Given the description of an element on the screen output the (x, y) to click on. 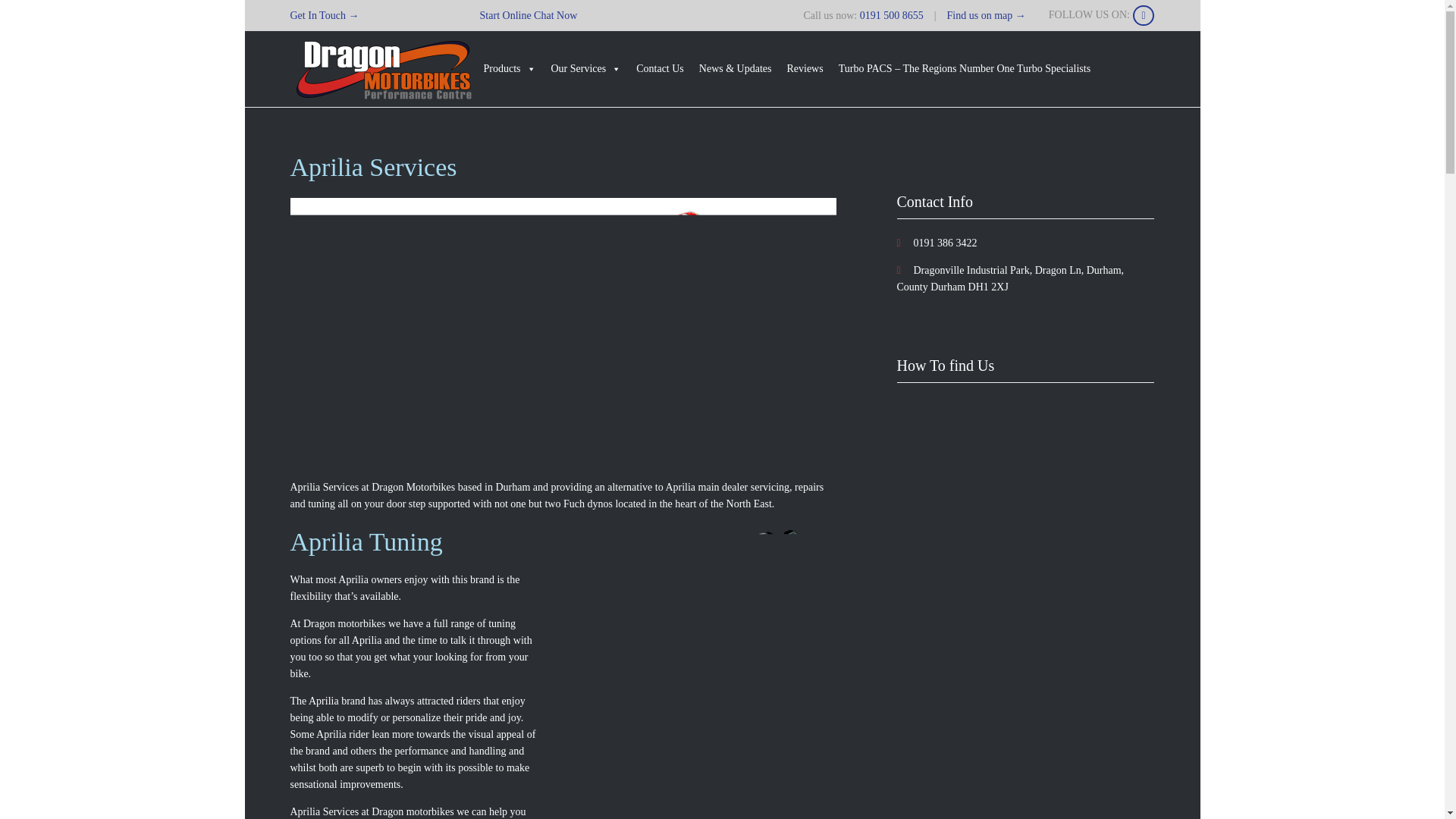
Our Services (585, 69)
Products (509, 69)
Aprilia Services  (694, 664)
Dragon Motorbikes (382, 69)
Contact Us (659, 69)
Reviews (803, 69)
0191 500 8655 (891, 15)
Start Online Chat Now (529, 15)
